Given the description of an element on the screen output the (x, y) to click on. 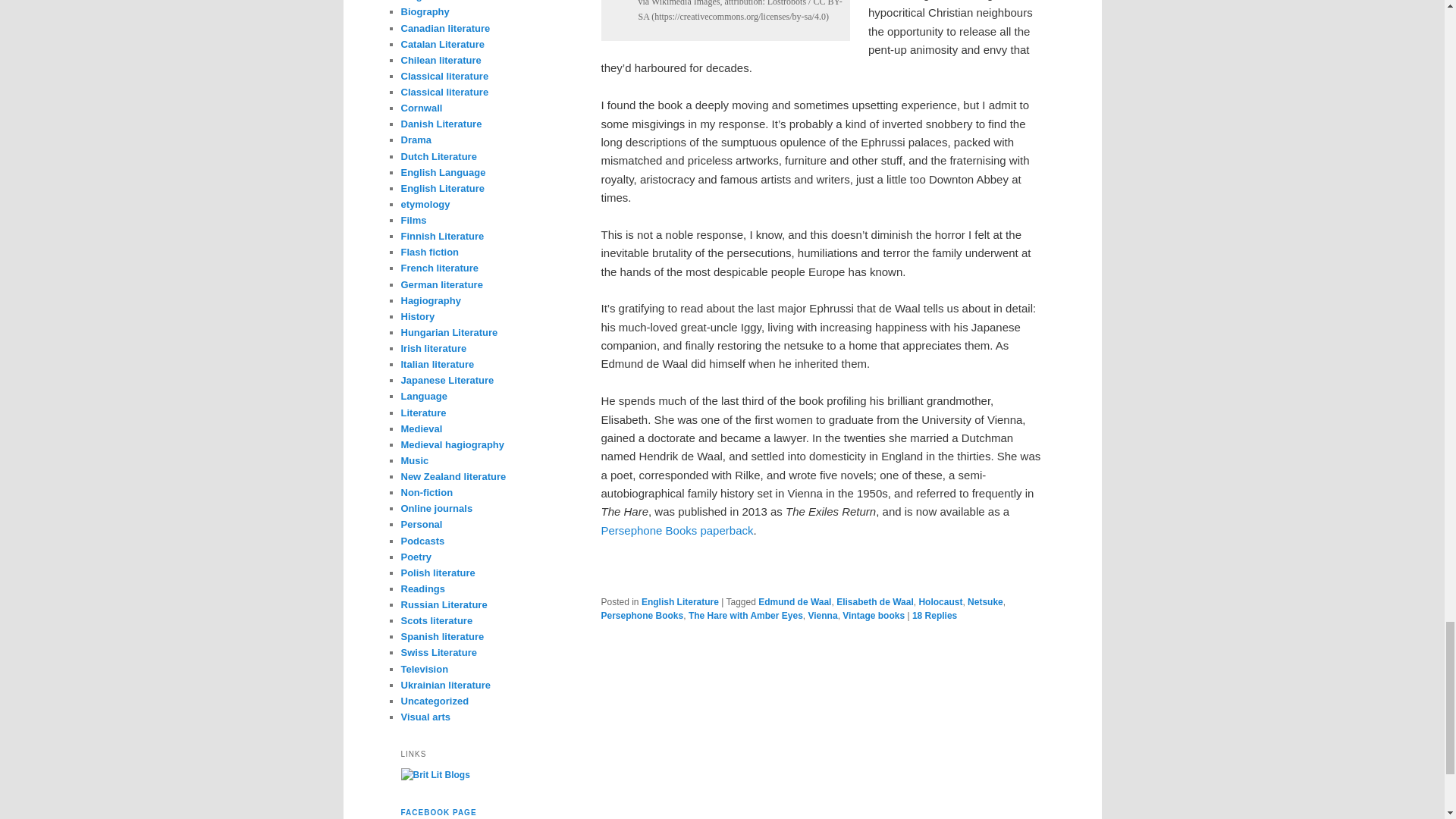
Holocaust (940, 602)
The Hare with Amber Eyes (745, 615)
Persephone Books (640, 615)
Netsuke (985, 602)
Edmund de Waal (794, 602)
Vienna (822, 615)
Persephone Books paperback (675, 530)
Elisabeth de Waal (874, 602)
English Literature (680, 602)
